Given the description of an element on the screen output the (x, y) to click on. 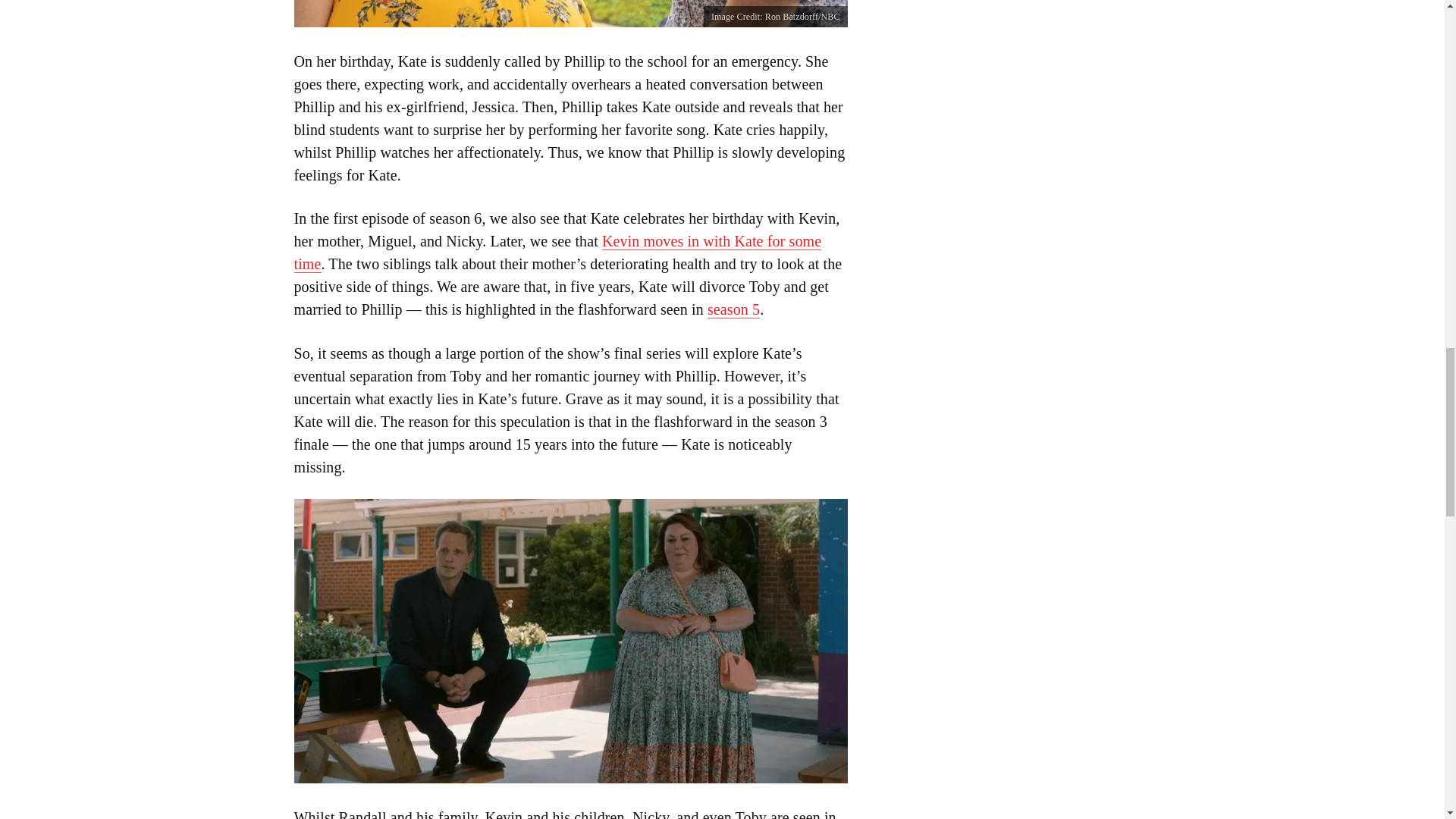
season 5 (733, 309)
Kevin moves in with Kate for some time (558, 252)
